Given the description of an element on the screen output the (x, y) to click on. 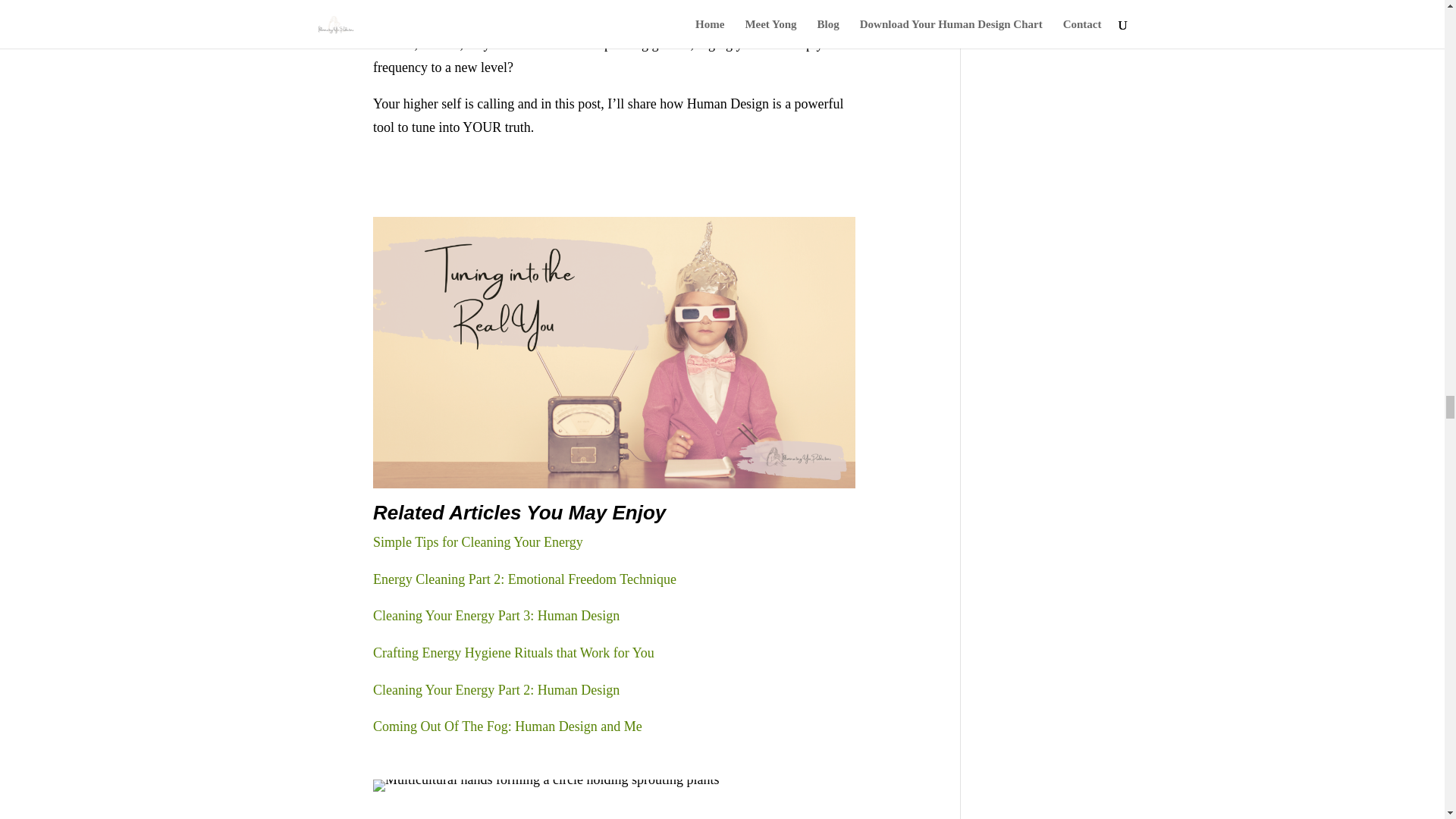
Tuning into the Real You using Human Design (614, 352)
Crafting Energy Hygiene Rituals that Work for You (512, 652)
Energy Cleaning Part 2: Emotional Freedom Technique (524, 579)
Cleaning Your Energy Part 2: Human Design (496, 689)
Simple Tips for Cleaning Your Energy (477, 541)
Coming Out Of The Fog: Human Design and Me (507, 726)
The Call to Grow - When Human Design Calls to You (545, 785)
Cleaning Your Energy Part 3: Human Design (496, 615)
